Given the description of an element on the screen output the (x, y) to click on. 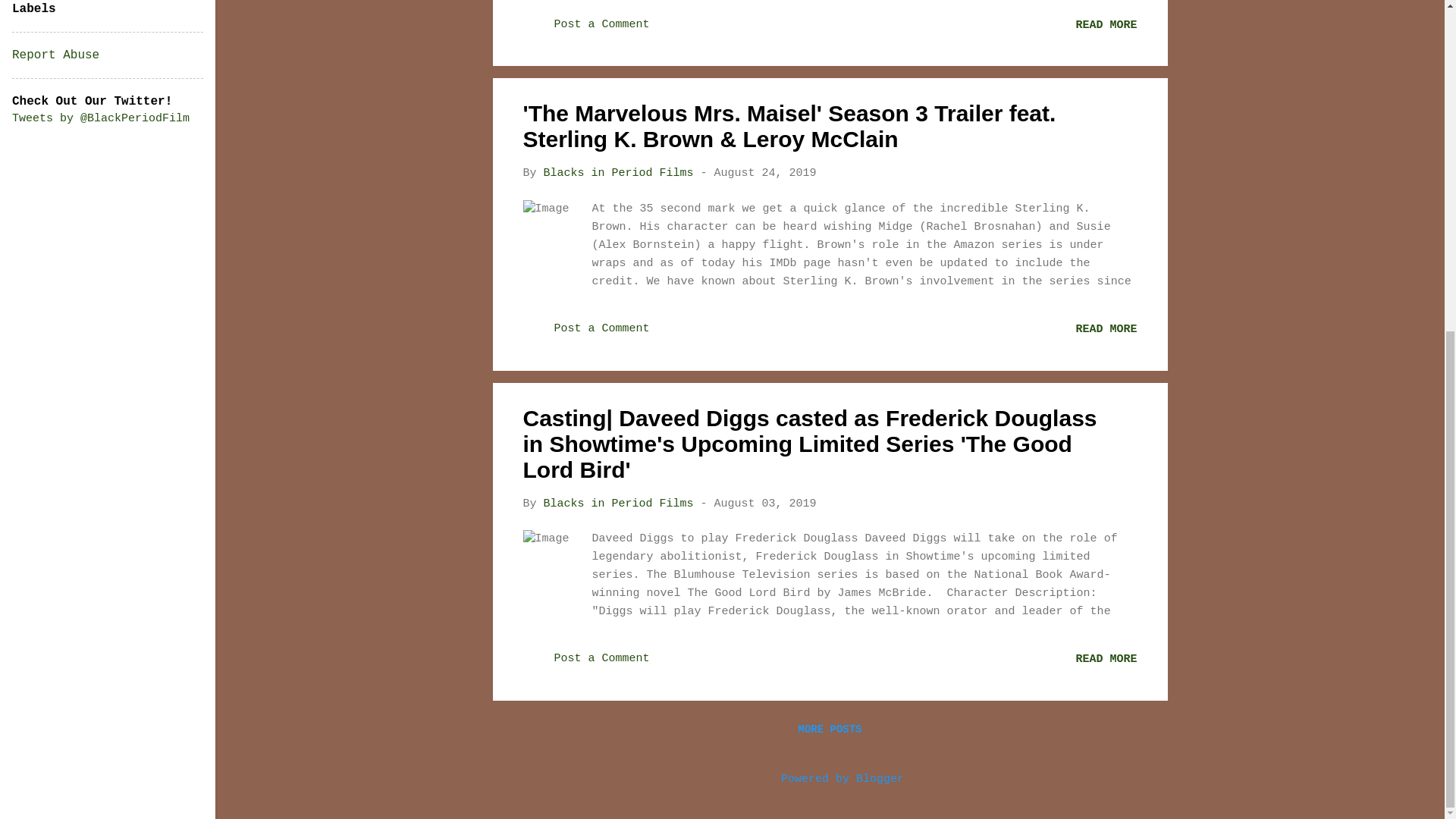
Blacks in Period Films (618, 173)
Post a Comment (585, 665)
READ MORE (1106, 24)
READ MORE (1106, 328)
Post a Comment (585, 31)
READ MORE (1106, 658)
Blacks in Period Films (618, 502)
MORE POSTS (829, 729)
August 03, 2019 (765, 502)
Post a Comment (585, 335)
